Given the description of an element on the screen output the (x, y) to click on. 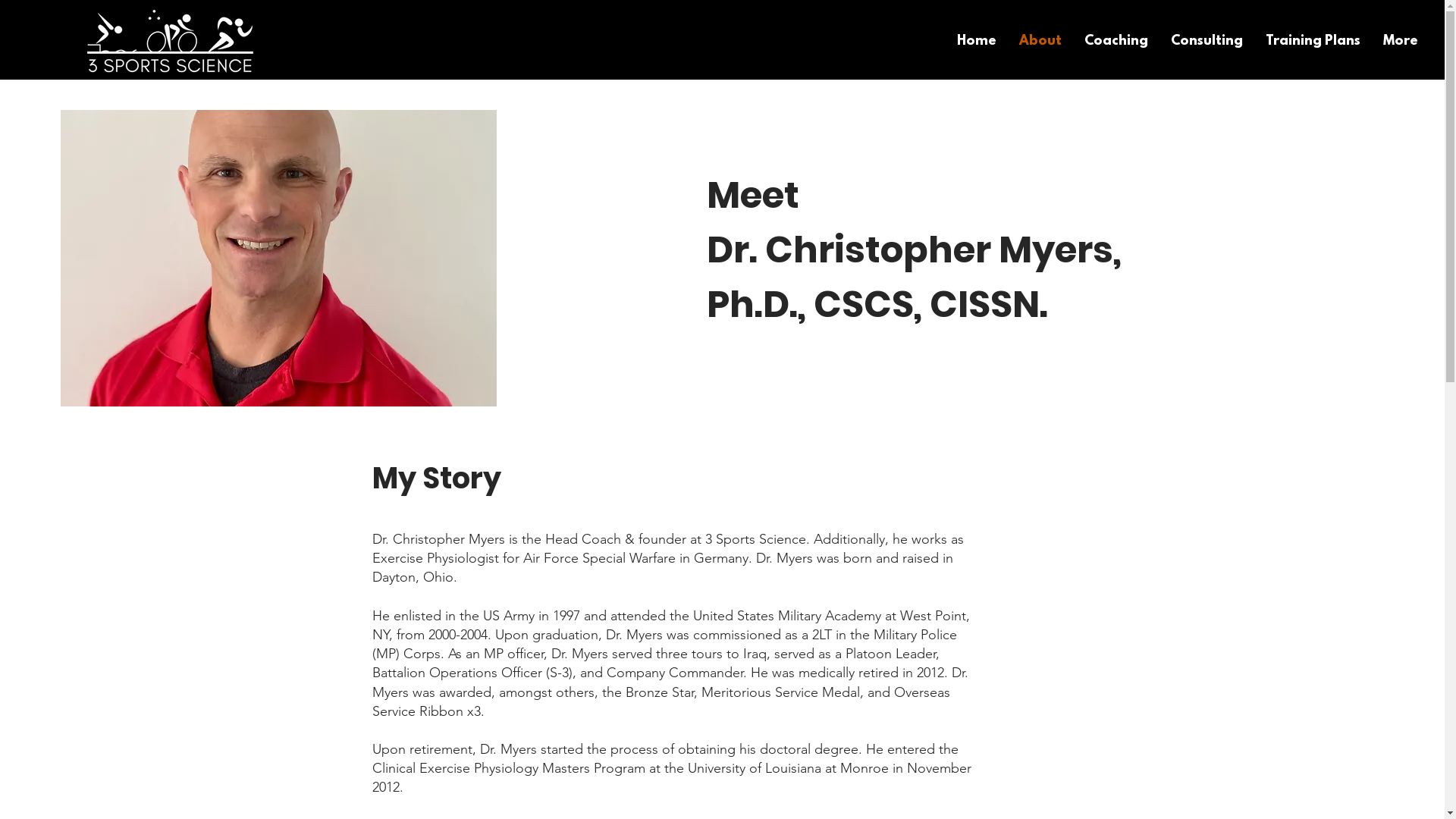
Coaching Element type: text (1116, 41)
About Element type: text (1040, 41)
Consulting Element type: text (1206, 41)
Home Element type: text (976, 41)
Training Plans Element type: text (1312, 41)
